Given the description of an element on the screen output the (x, y) to click on. 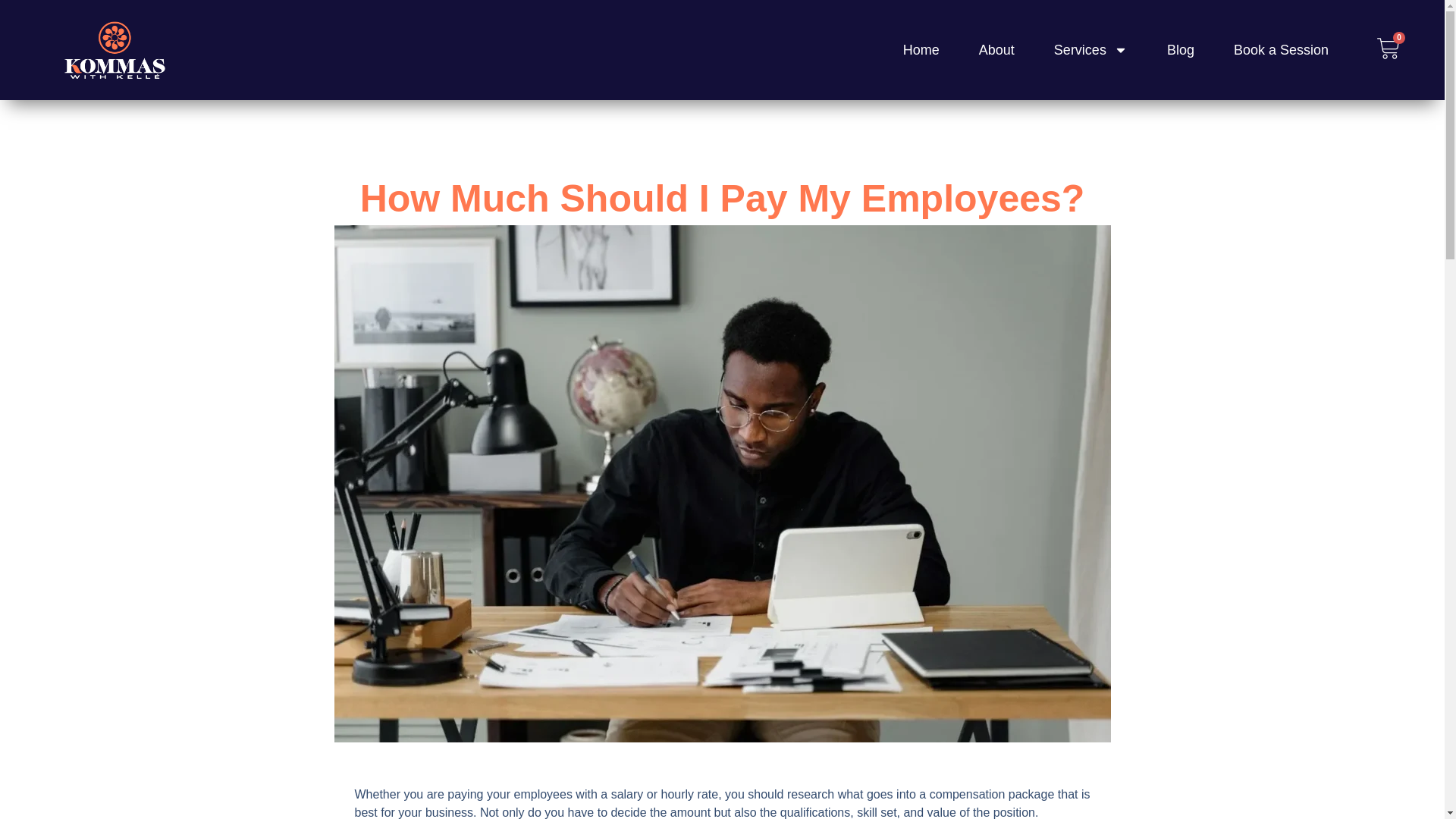
About (996, 49)
Services (1090, 49)
Book a Session (1280, 49)
0 (1388, 49)
Home (920, 49)
Blog (1180, 49)
